Given the description of an element on the screen output the (x, y) to click on. 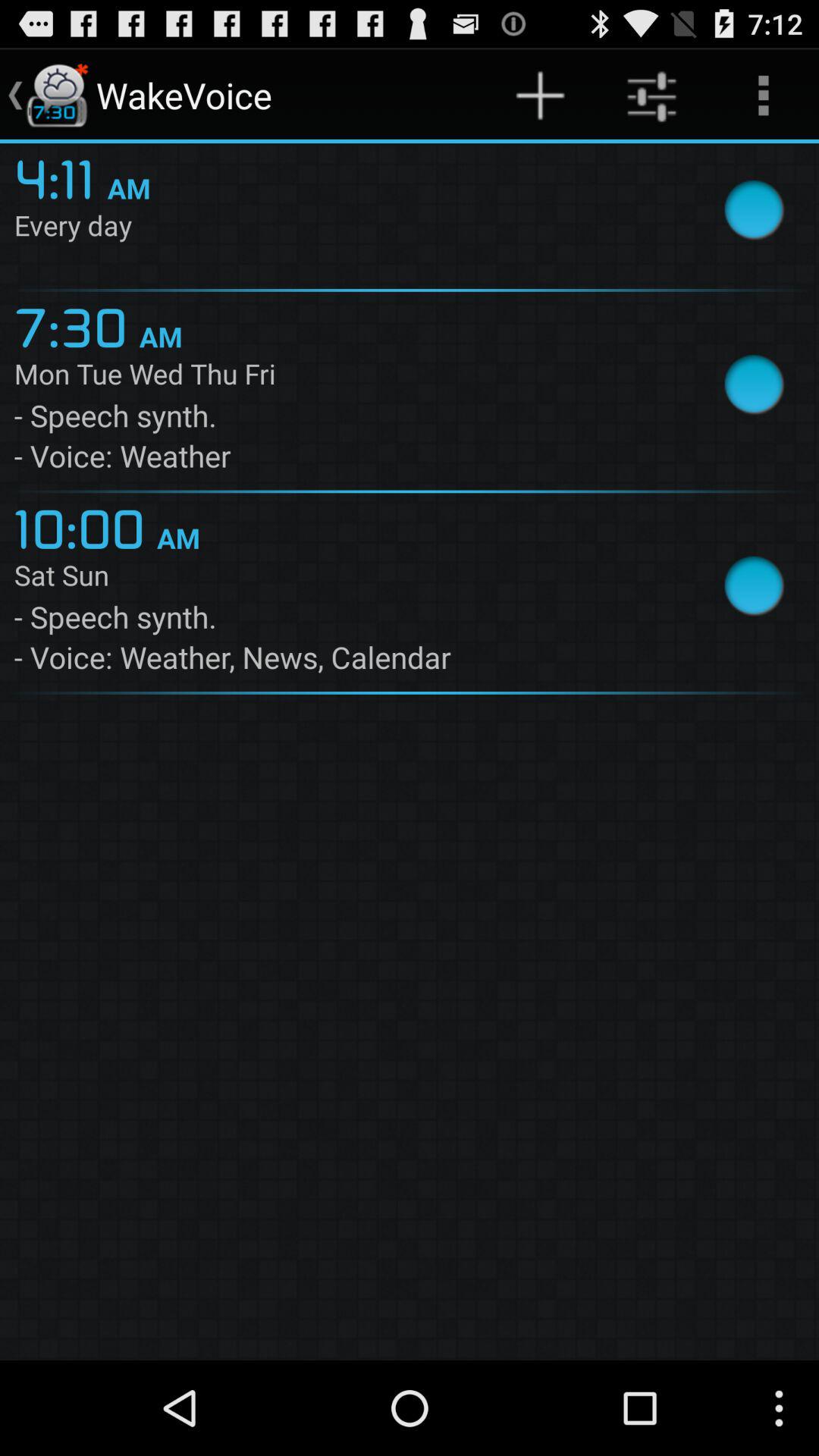
press the icon to the left of am app (76, 324)
